Given the description of an element on the screen output the (x, y) to click on. 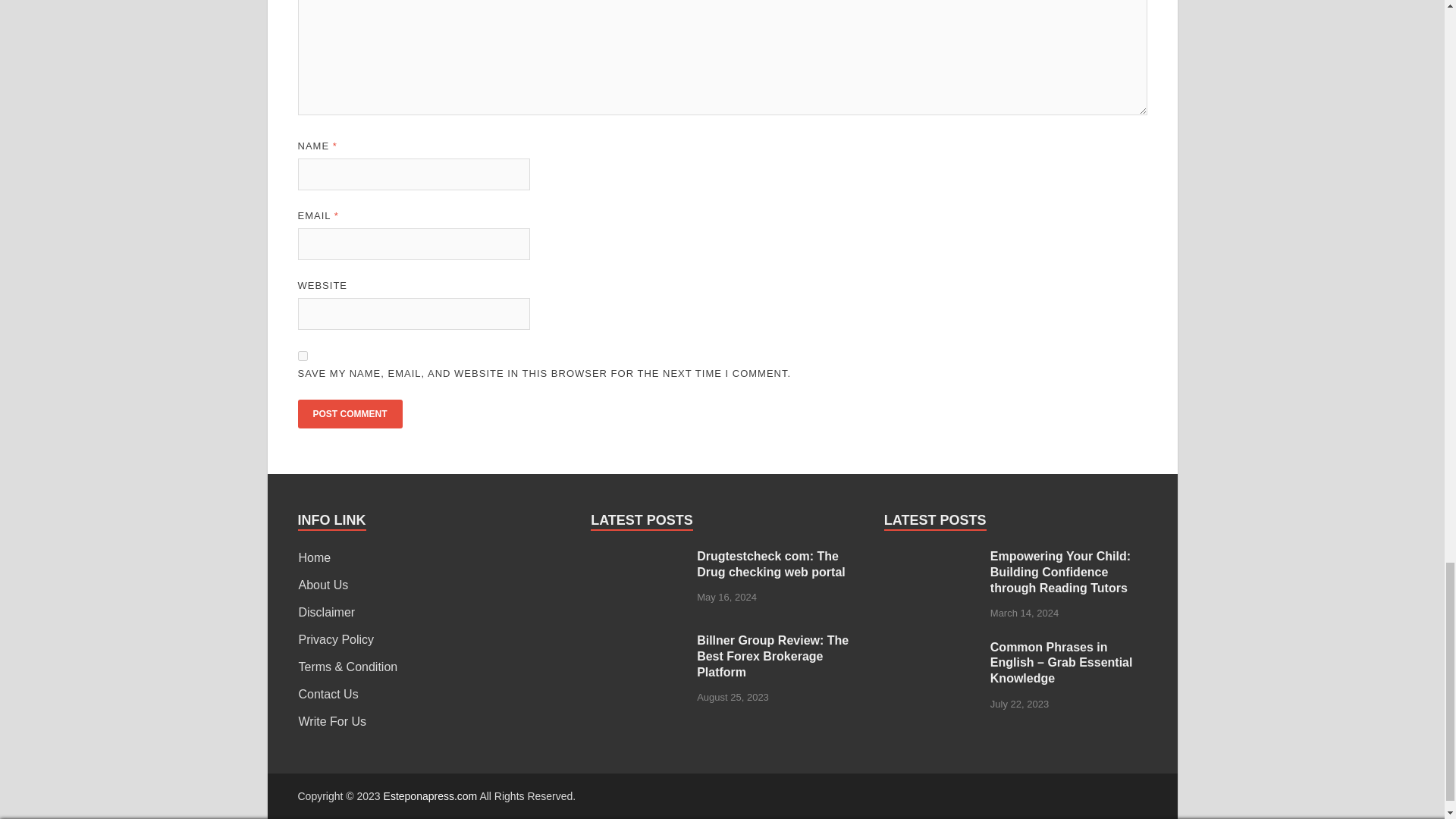
Drugtestcheck com: The Drug checking web portal (638, 557)
Billner Group Review: The Best Forex Brokerage Platform (638, 641)
yes (302, 356)
Post Comment (349, 413)
